Given the description of an element on the screen output the (x, y) to click on. 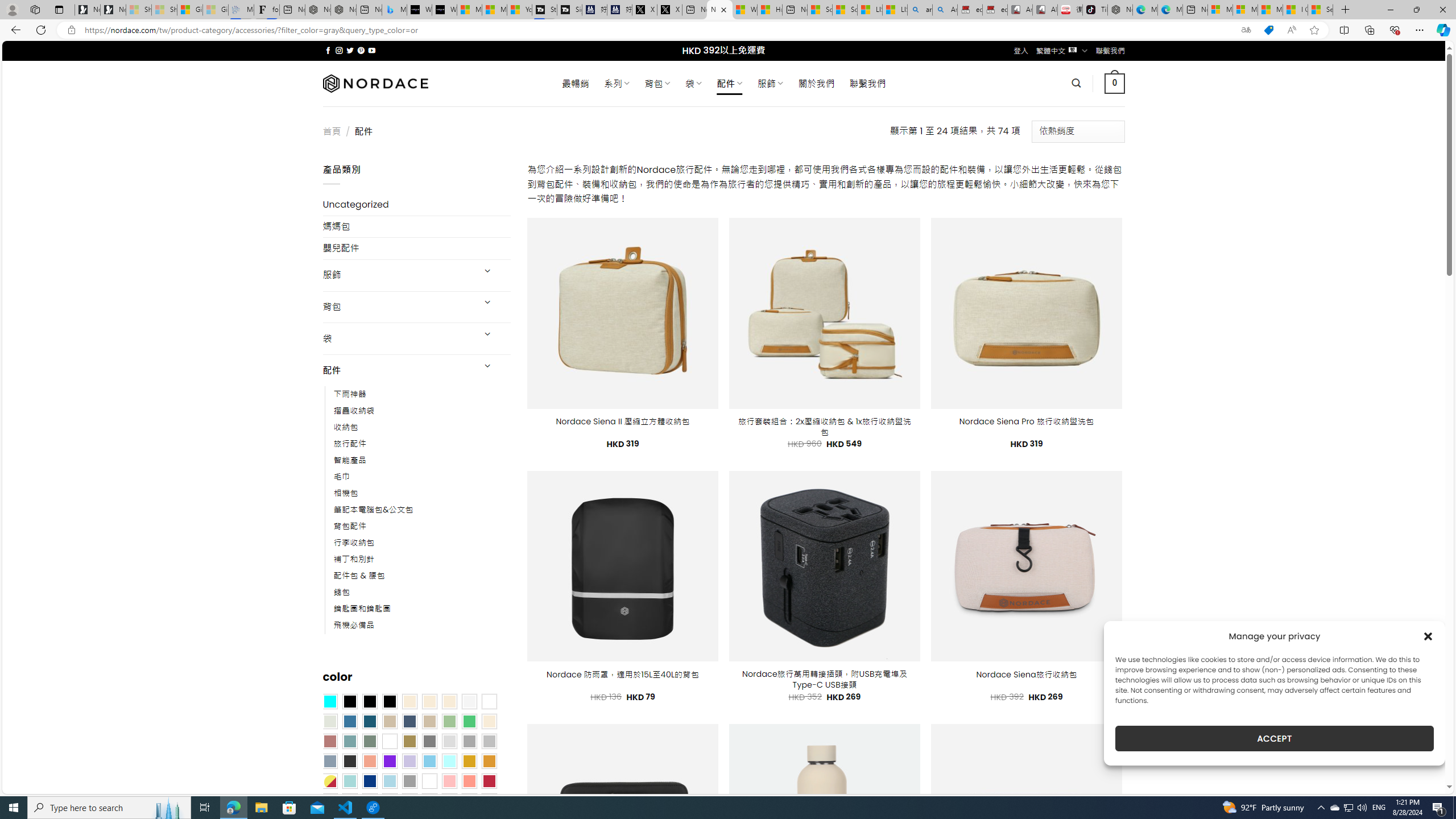
Follow on YouTube (371, 50)
  0   (1115, 83)
